Given the description of an element on the screen output the (x, y) to click on. 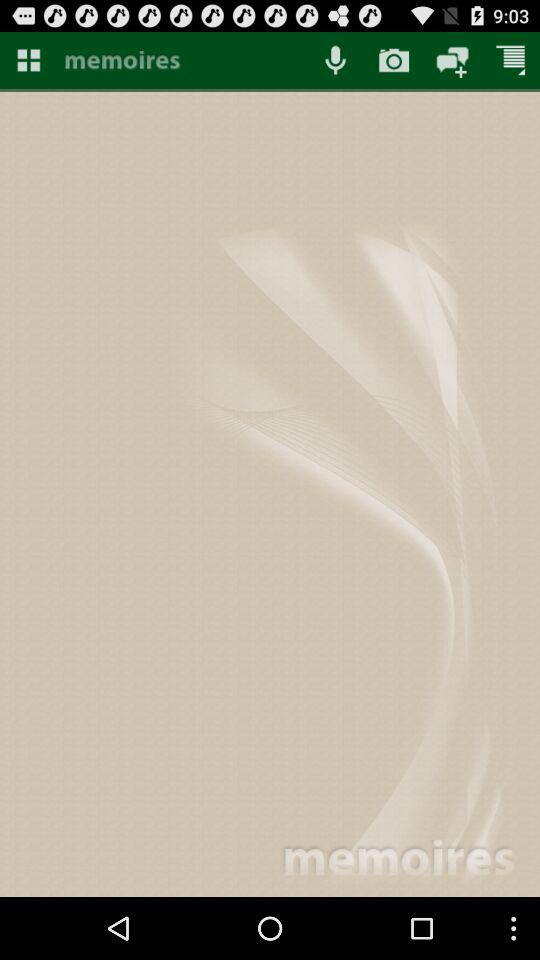
take a photo (394, 60)
